Given the description of an element on the screen output the (x, y) to click on. 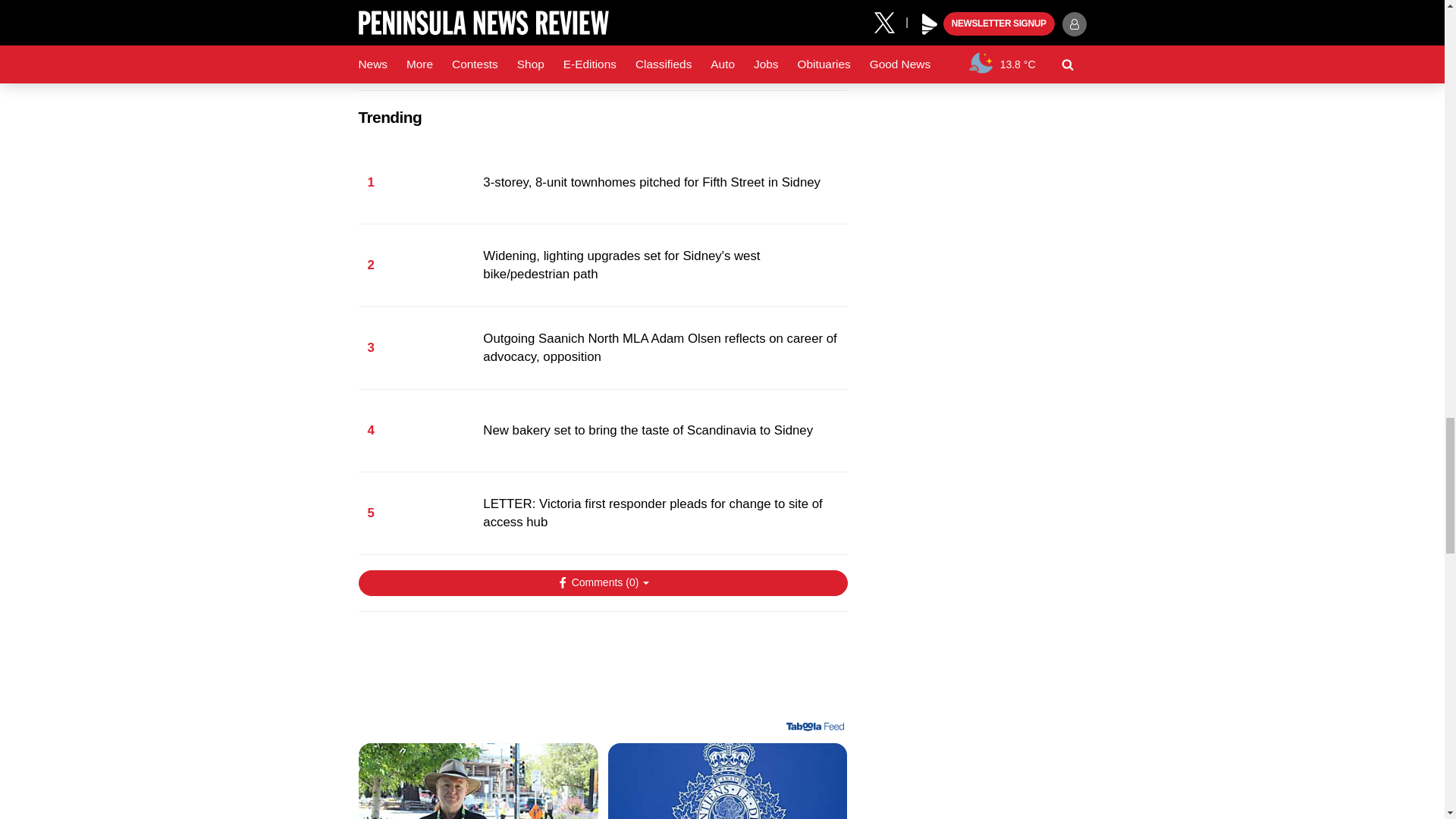
Show Comments (602, 583)
